Given the description of an element on the screen output the (x, y) to click on. 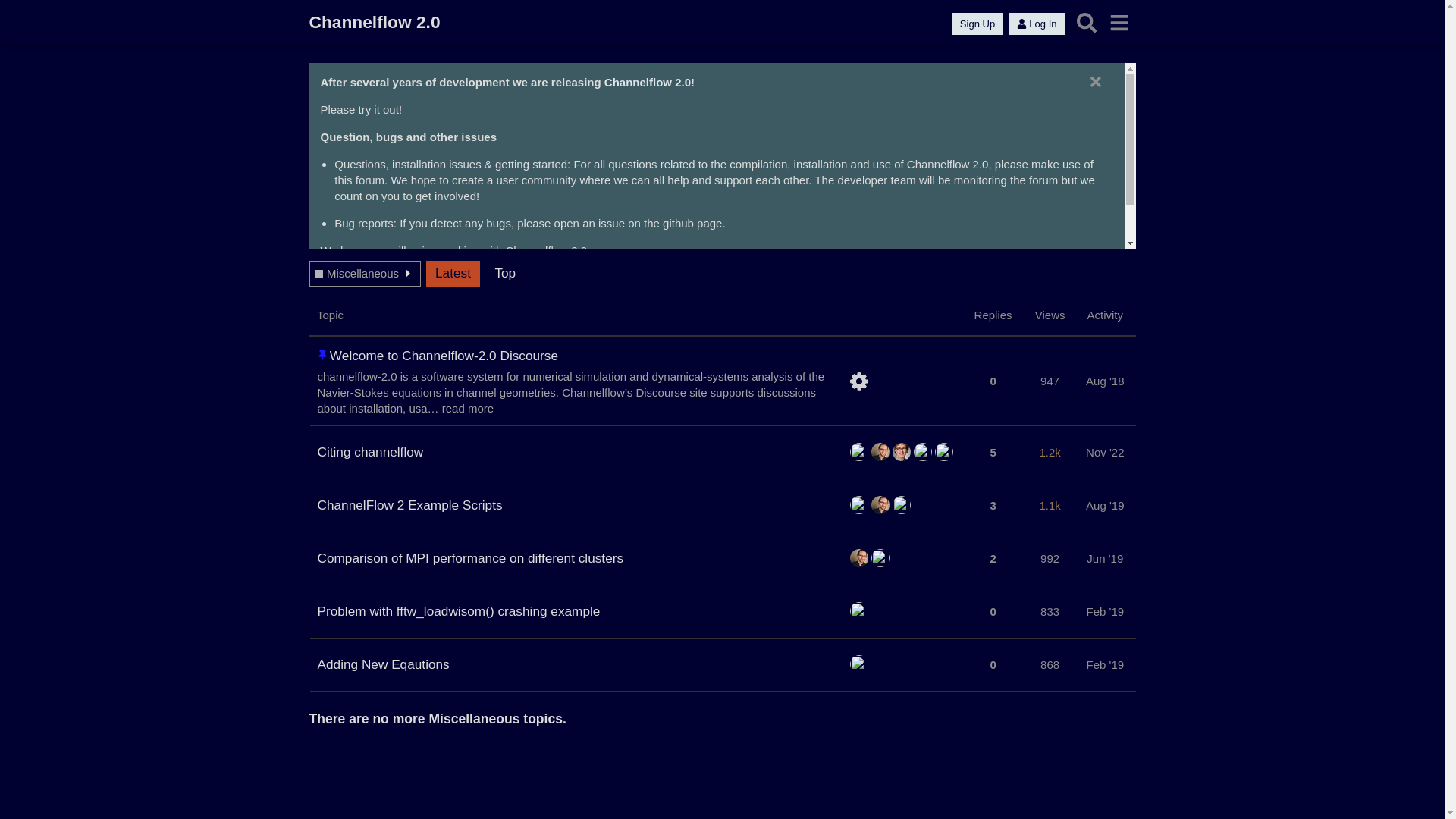
menu Element type: hover (1119, 22)
Crunch2018 - Original Poster, Most Recent Poster Element type: hover (859, 611)
Search Element type: hover (1086, 22)
system - Original Poster, Most Recent Poster Element type: hover (859, 381)
Adding New Eqautions Element type: text (382, 664)
Latest Element type: text (453, 273)
tobias.schneider - Frequent Poster Element type: hover (901, 451)
ChannelFlow 2 Example Scripts Element type: text (409, 505)
Channelflow 2.0 Element type: text (647, 81)
Citing channelflow Element type: text (369, 451)
Aug '18 Element type: text (1104, 380)
Robin - Frequent Poster Element type: hover (922, 451)
Jun '19 Element type: text (1104, 558)
florian.reetz - Original Poster Element type: hover (859, 558)
Feb '19 Element type: text (1105, 611)
0 Element type: text (992, 611)
Vilda - Most Recent Poster Element type: hover (901, 504)
3 Element type: text (992, 505)
Aug '19 Element type: text (1104, 505)
florian.reetz - Frequent Poster Element type: hover (880, 451)
Crunch2018 - Original Poster Element type: hover (859, 504)
pavan - Most Recent Poster Element type: hover (880, 558)
jlangham - Original Poster Element type: hover (859, 451)
Crunch2018 - Original Poster, Most Recent Poster Element type: hover (859, 664)
Problem with fftw_loadwisom() crashing example Element type: text (457, 611)
florian.reetz - Frequent Poster Element type: hover (880, 504)
Channelflow 2.0 Element type: text (374, 22)
Top Element type: text (504, 273)
5 Element type: text (992, 452)
2 Element type: text (992, 558)
0 Element type: text (992, 381)
Feb '19 Element type: text (1105, 664)
0 Element type: text (992, 664)
Nov '22 Element type: text (1104, 452)
Dismiss this banner Element type: hover (1095, 81)
ajpalya - Most Recent Poster Element type: hover (944, 451)
Comparison of MPI performance on different clusters Element type: text (469, 558)
Log In Element type: text (1036, 23)
Sign Up Element type: text (977, 23)
Welcome to Channelflow-2.0 Discourse Element type: text (443, 355)
